Given the description of an element on the screen output the (x, y) to click on. 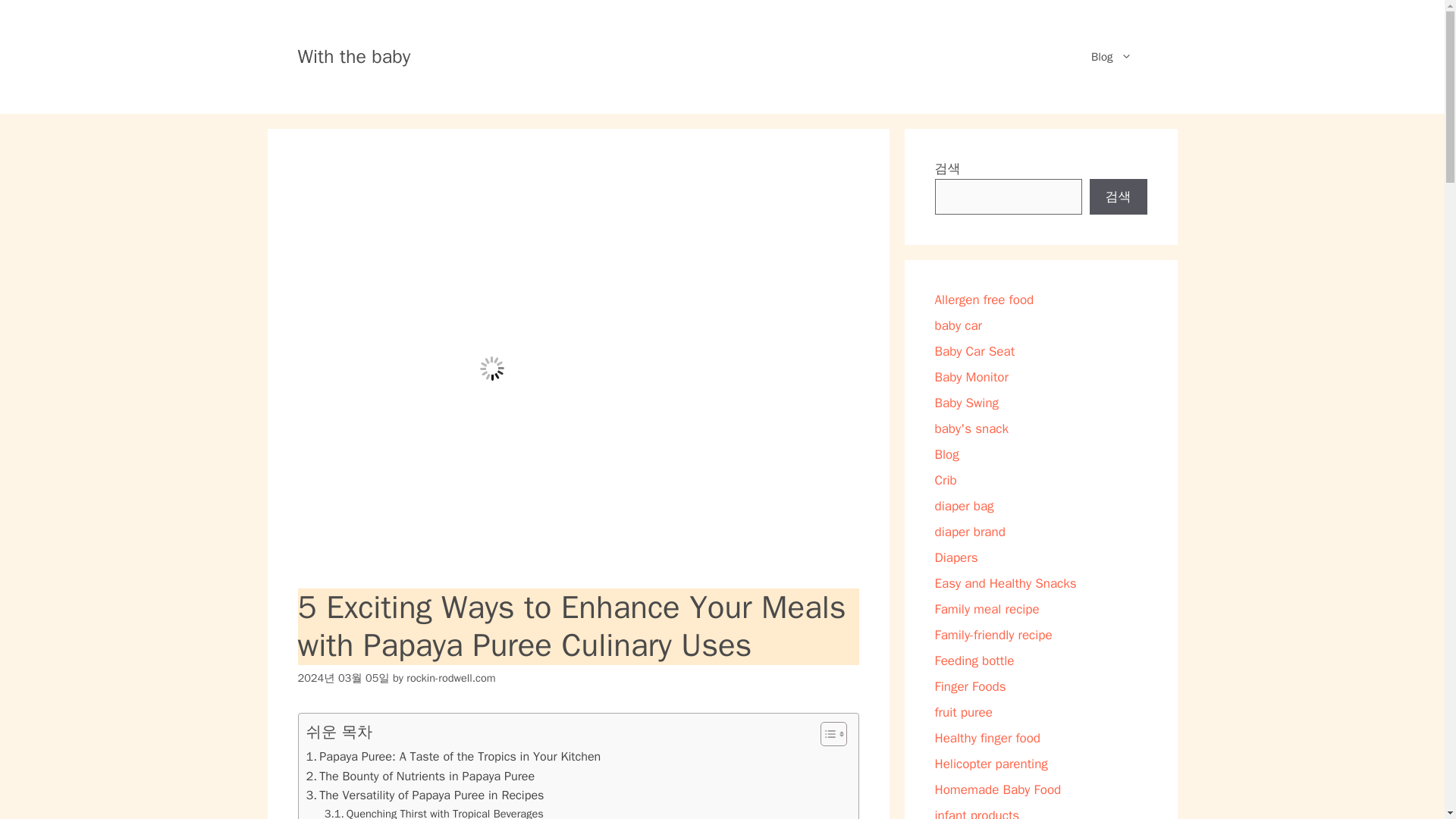
With the baby (353, 56)
Baby Car Seat (974, 351)
Blog (1111, 56)
The Bounty of Nutrients in Papaya Puree (420, 776)
Quenching Thirst with Tropical Beverages (433, 812)
Papaya Puree: A Taste of the Tropics in Your Kitchen (453, 756)
Quenching Thirst with Tropical Beverages (433, 812)
The Versatility of Papaya Puree in Recipes (424, 795)
The Bounty of Nutrients in Papaya Puree (420, 776)
baby car (957, 325)
rockin-rodwell.com (450, 677)
The Versatility of Papaya Puree in Recipes (424, 795)
Papaya Puree: A Taste of the Tropics in Your Kitchen (453, 756)
View all posts by rockin-rodwell.com (450, 677)
Allergen free food (983, 299)
